Given the description of an element on the screen output the (x, y) to click on. 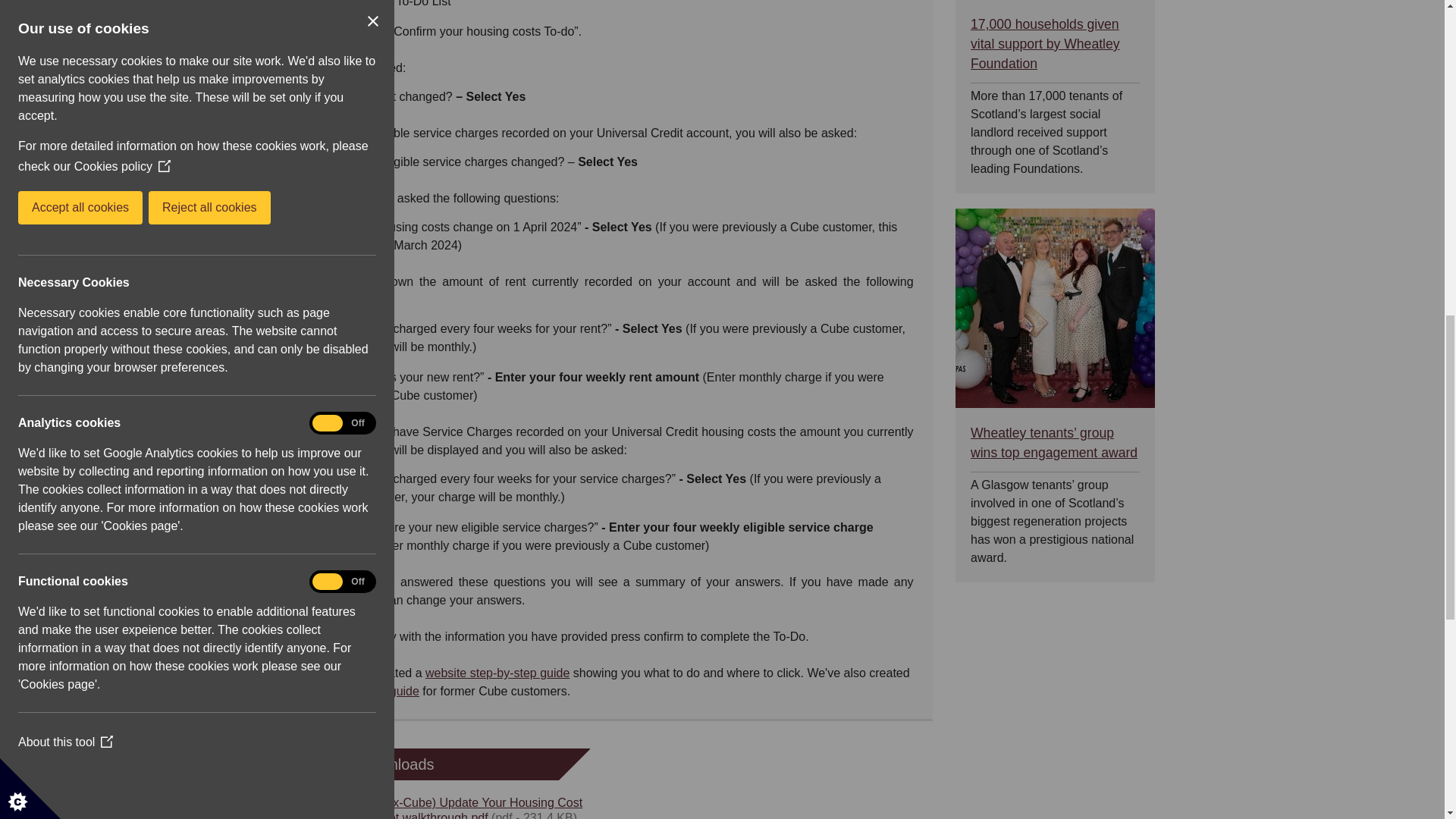
Update your housing cost step-by-step (497, 672)
Cube step-by-step guide (368, 690)
